Given the description of an element on the screen output the (x, y) to click on. 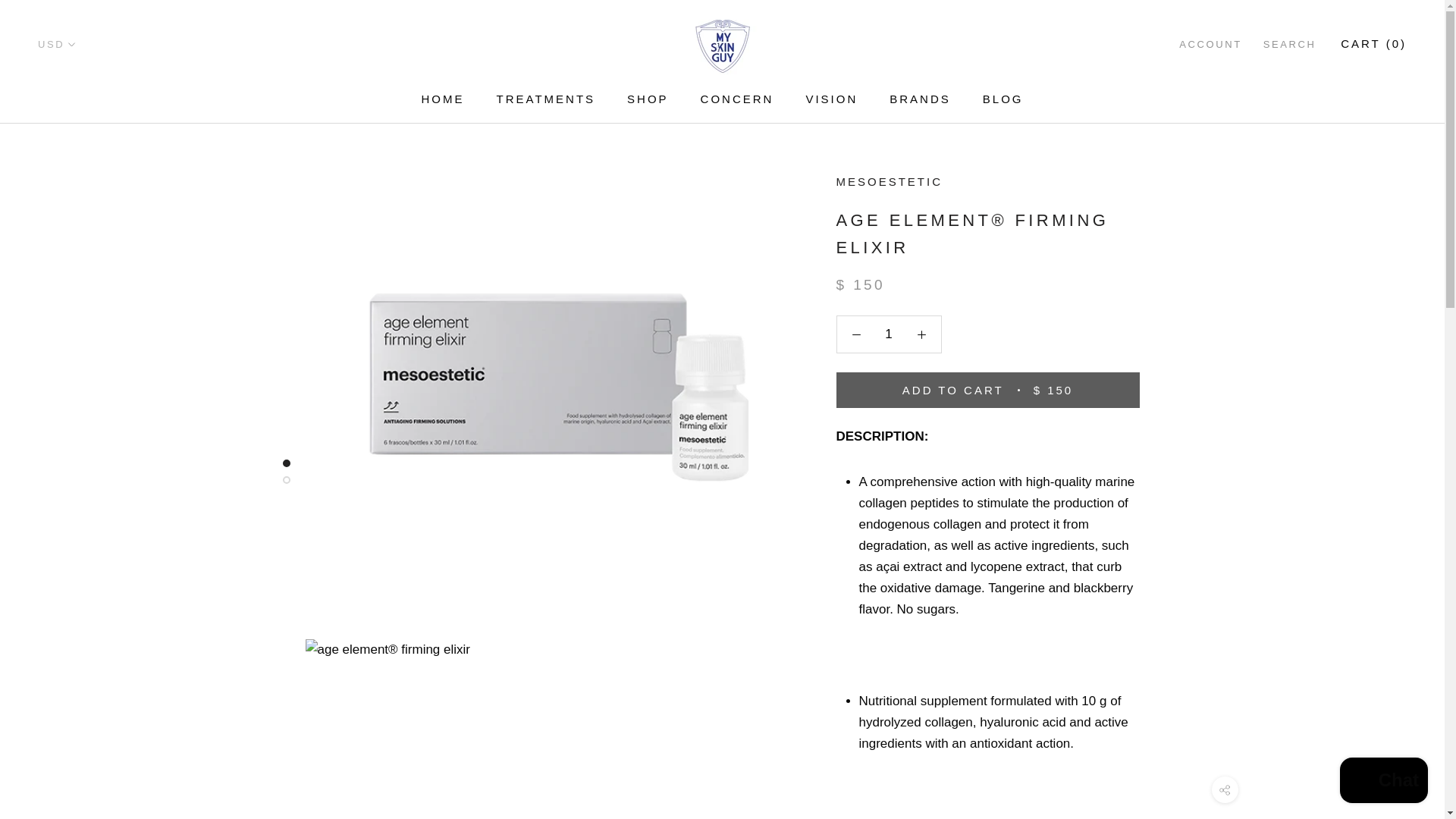
SEARCH (443, 98)
1 (919, 98)
Shopify online store chat (647, 98)
MESOESTETIC (737, 98)
